Given the description of an element on the screen output the (x, y) to click on. 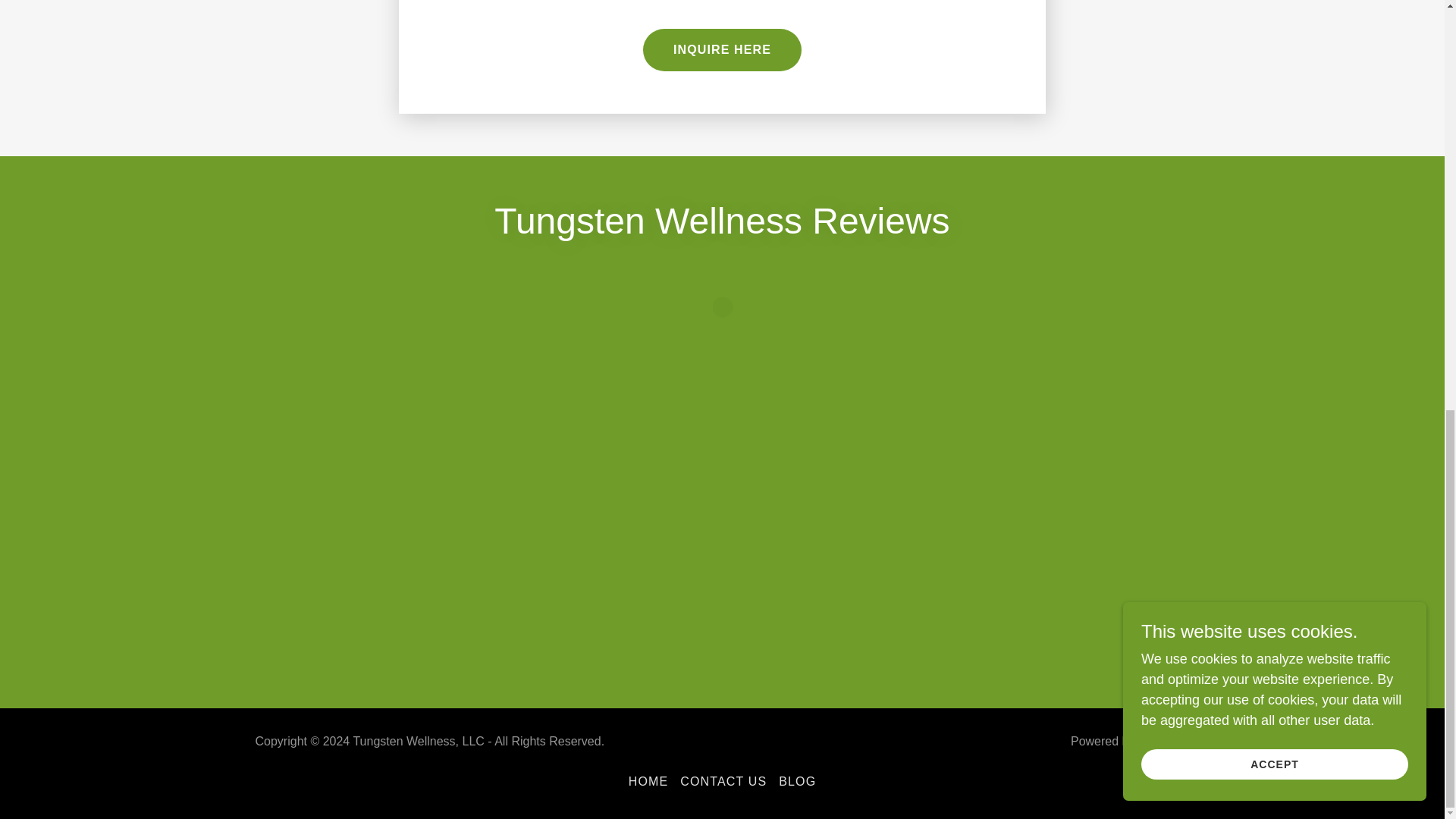
GoDaddy (1163, 740)
INQUIRE HERE (722, 49)
HOME (649, 781)
BLOG (797, 781)
CONTACT US (723, 781)
